Given the description of an element on the screen output the (x, y) to click on. 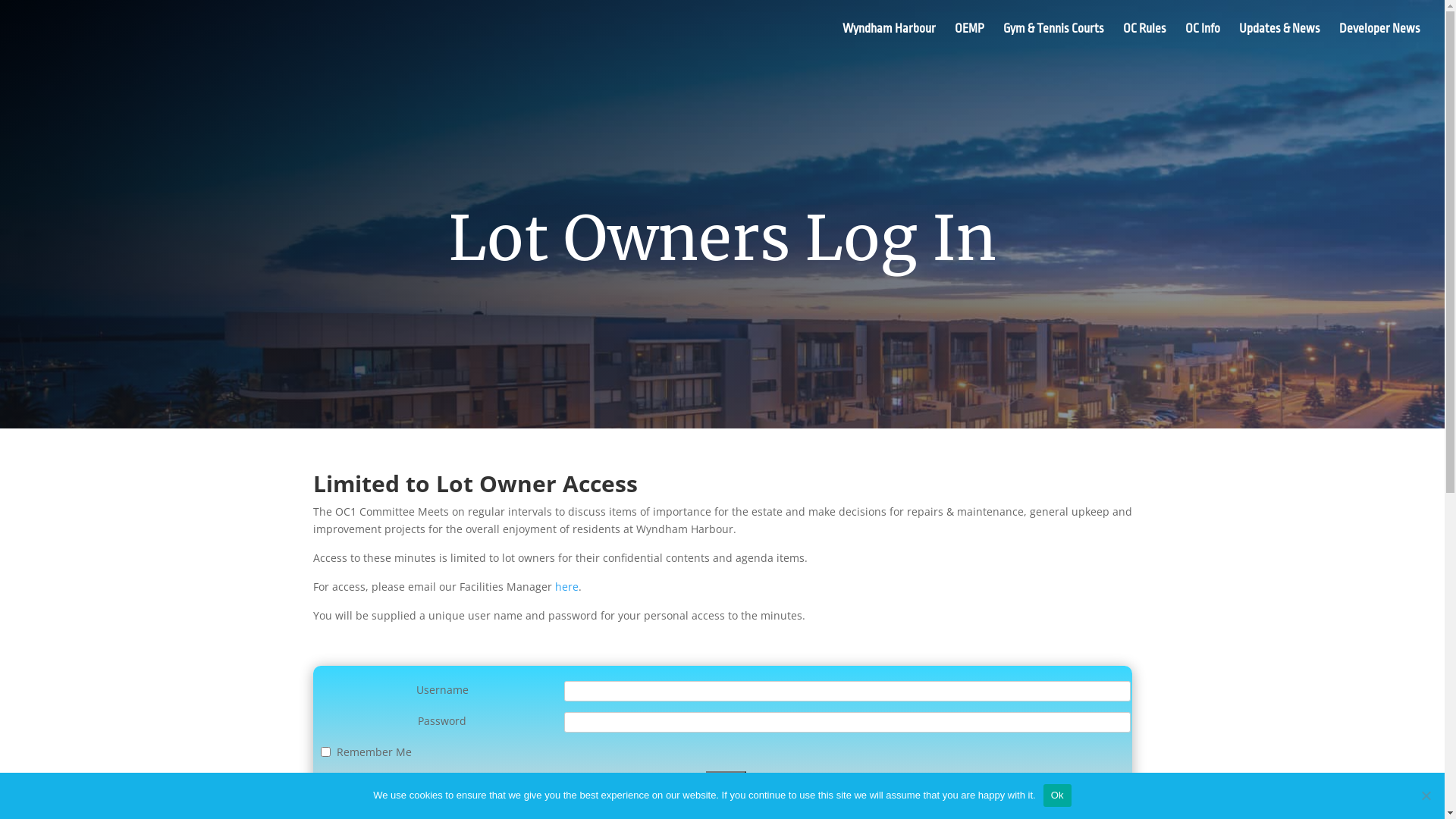
Log In Element type: text (726, 780)
Ok Element type: text (1057, 795)
Updates & News Element type: text (1279, 40)
OC Info Element type: text (1202, 40)
OC Rules Element type: text (1144, 40)
OEMP Element type: text (969, 40)
here Element type: text (566, 586)
Gym & Tennis Courts Element type: text (1053, 40)
No Element type: hover (1425, 795)
Wyndham Harbour Element type: text (888, 40)
Developer News Element type: text (1379, 40)
